Given the description of an element on the screen output the (x, y) to click on. 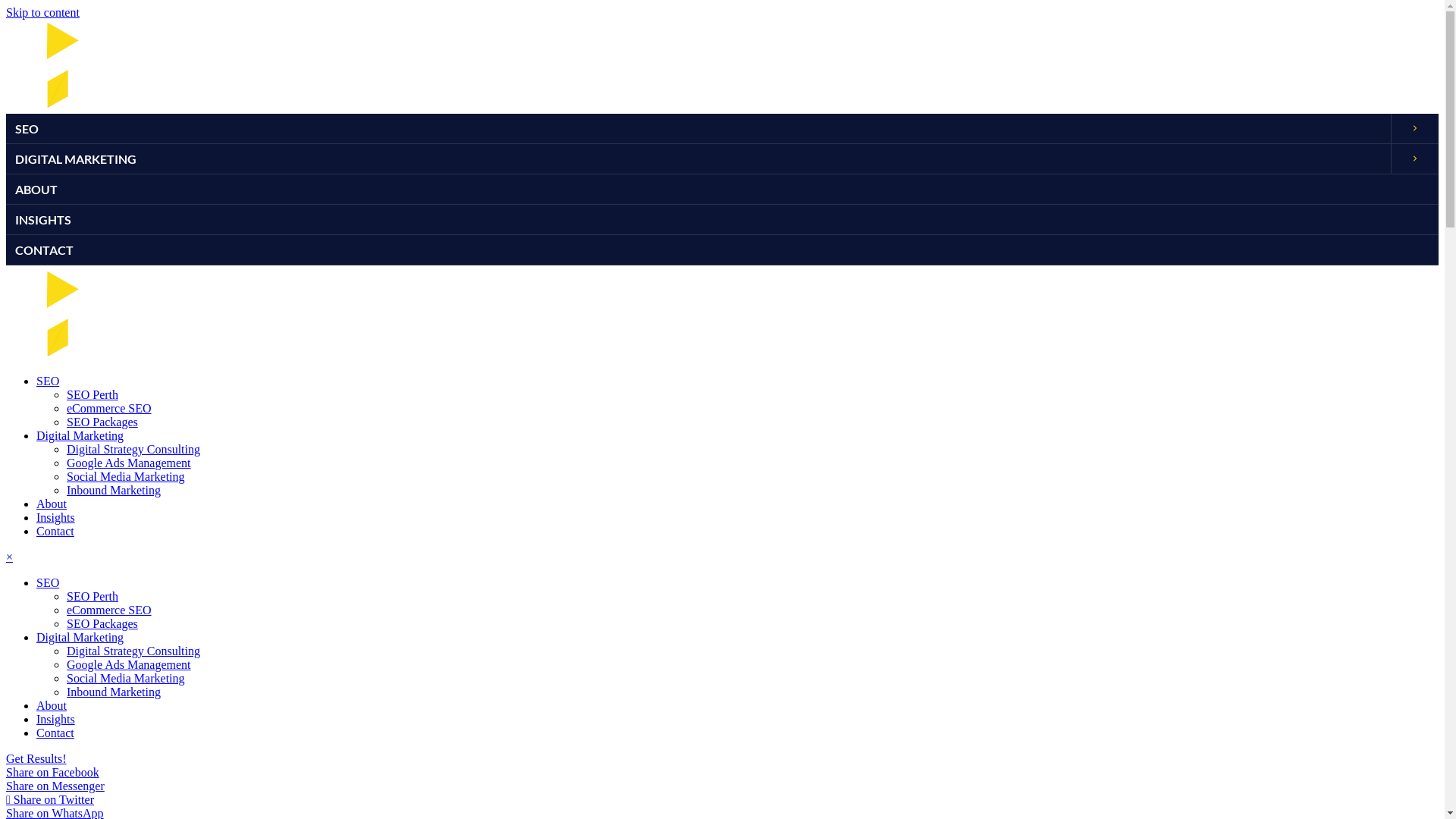
Inbound Marketing Element type: text (113, 691)
SEO Packages Element type: text (102, 623)
Social Media Marketing Element type: text (125, 476)
About Element type: text (51, 705)
SEO Element type: text (698, 128)
Digital Marketing Element type: text (79, 636)
ABOUT Element type: text (722, 188)
DIGITAL MARKETING Element type: text (698, 158)
CONTACT Element type: text (722, 249)
Social Media Marketing Element type: text (125, 677)
Share on Facebook Element type: text (52, 771)
Insights Element type: text (55, 718)
eCommerce SEO Element type: text (108, 609)
SEO Element type: text (47, 582)
Digital Strategy Consulting Element type: text (133, 650)
Digital Marketing Element type: text (79, 435)
Google Ads Management Element type: text (128, 462)
New Muse Logo Element type: hover (197, 313)
Insights Element type: text (55, 517)
New Muse Logo Element type: hover (197, 64)
About Element type: text (51, 503)
SEO Perth Element type: text (92, 595)
eCommerce SEO Element type: text (108, 407)
INSIGHTS Element type: text (722, 219)
Contact Element type: text (55, 732)
Share on Messenger Element type: text (55, 785)
Contact Element type: text (55, 530)
Google Ads Management Element type: text (128, 664)
Inbound Marketing Element type: text (113, 489)
SEO Packages Element type: text (102, 421)
SEO Perth Element type: text (92, 394)
Skip to content Element type: text (42, 12)
SEO Element type: text (47, 380)
Get Results! Element type: text (36, 758)
Digital Strategy Consulting Element type: text (133, 448)
